Given the description of an element on the screen output the (x, y) to click on. 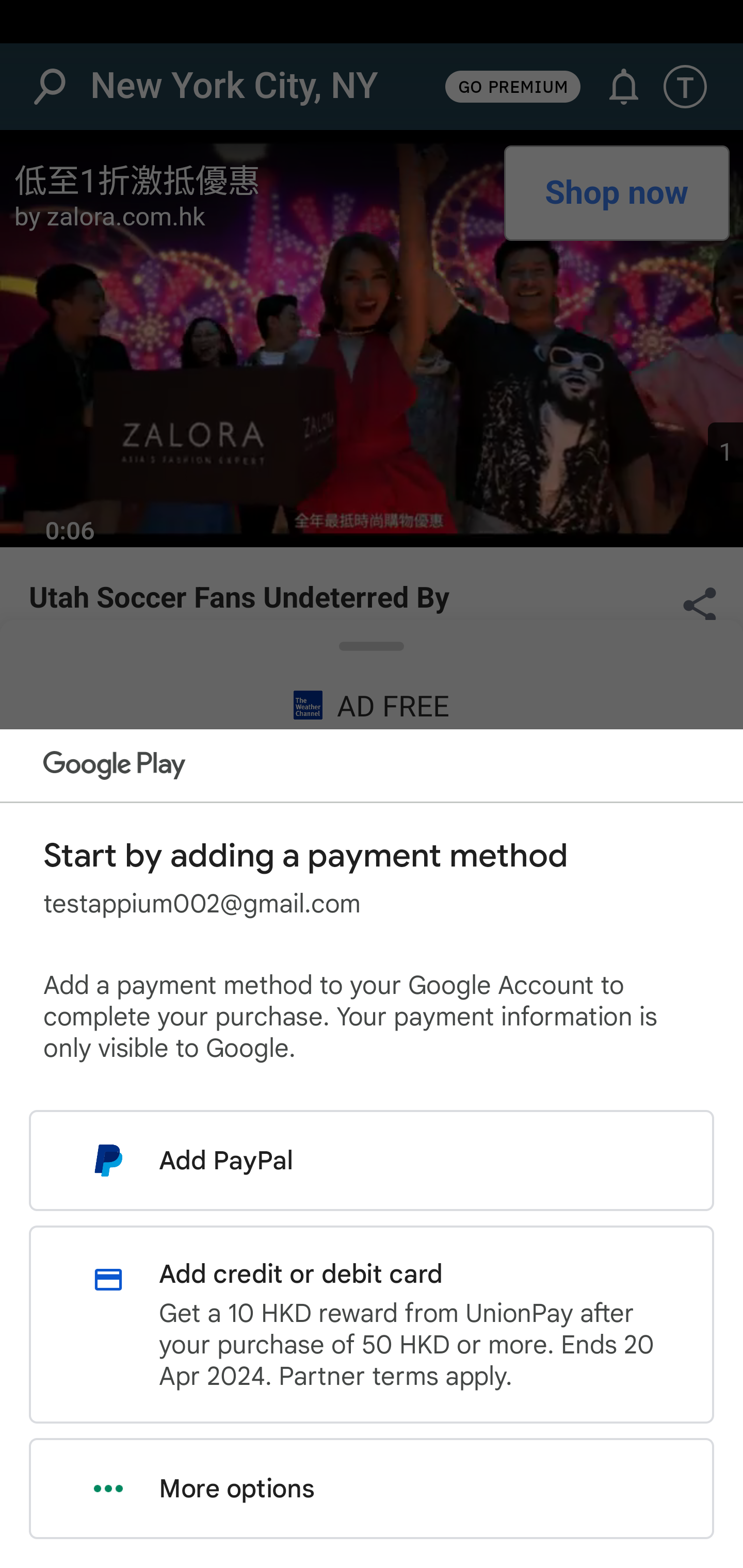
Add PayPal (371, 1160)
More options (371, 1488)
